Given the description of an element on the screen output the (x, y) to click on. 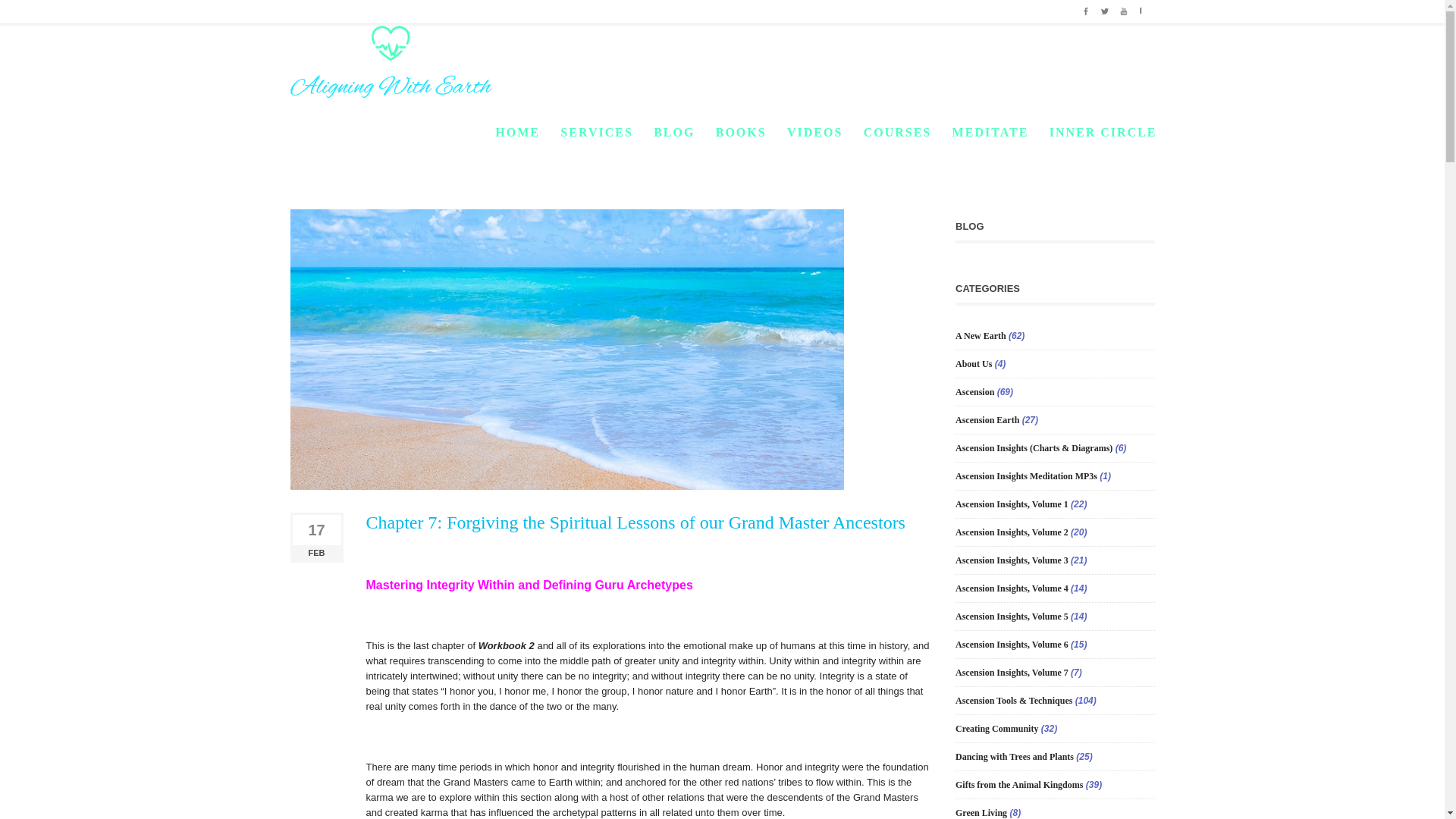
Twitter (1104, 9)
Twitter (1104, 9)
SKIP TO SECONDARY CONTENT (557, 132)
Facebook (1086, 9)
COURSES (897, 133)
Home (922, 124)
SERVICES (595, 133)
SKIP TO PRIMARY CONTENT (550, 132)
Youtube (1123, 9)
INNER CIRCLE (1103, 133)
Aligning With Earth (390, 61)
Youtube (1123, 9)
MEDITATE (990, 133)
